Given the description of an element on the screen output the (x, y) to click on. 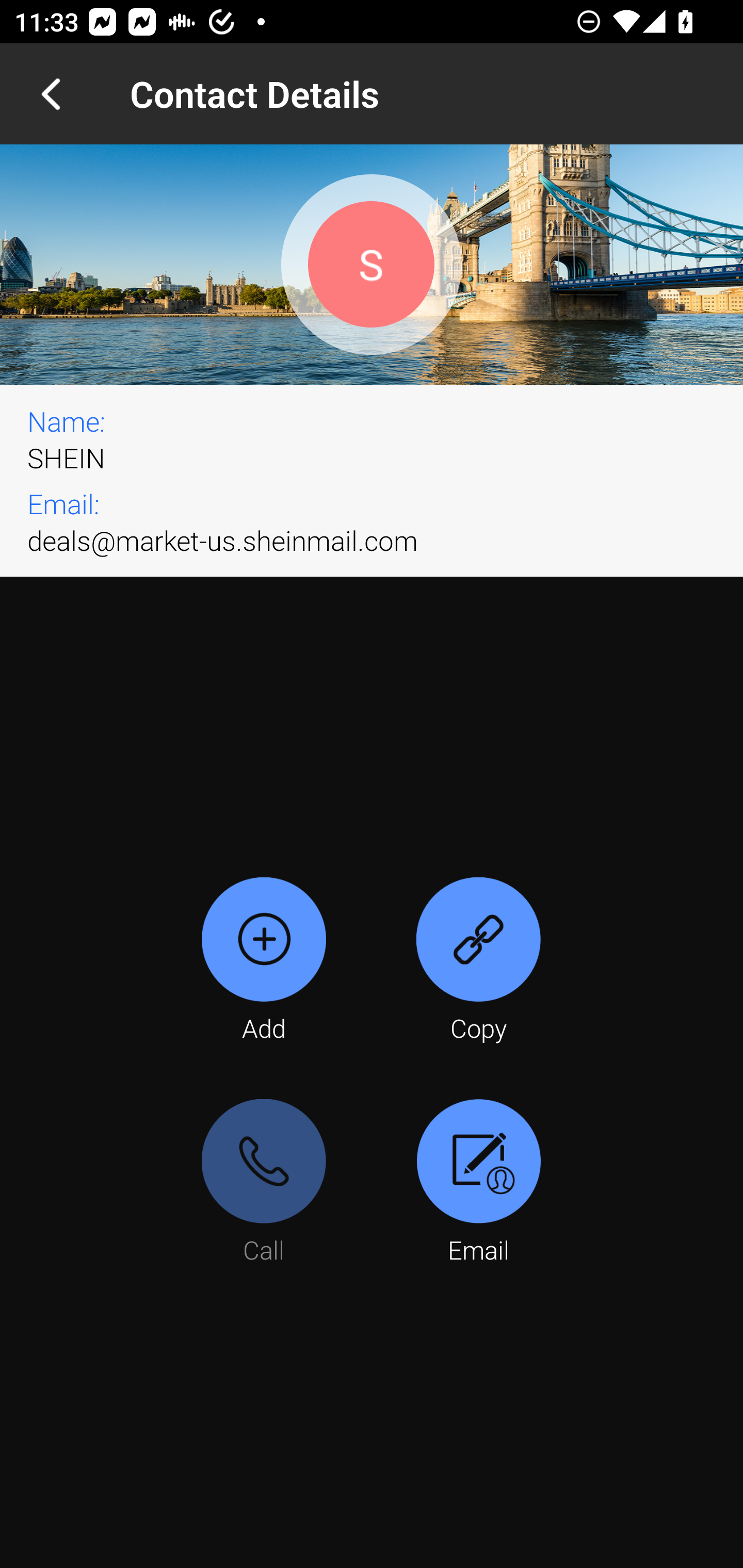
Navigate up (50, 93)
Add (264, 961)
Copy (478, 961)
Call (264, 1182)
Email (478, 1182)
